Given the description of an element on the screen output the (x, y) to click on. 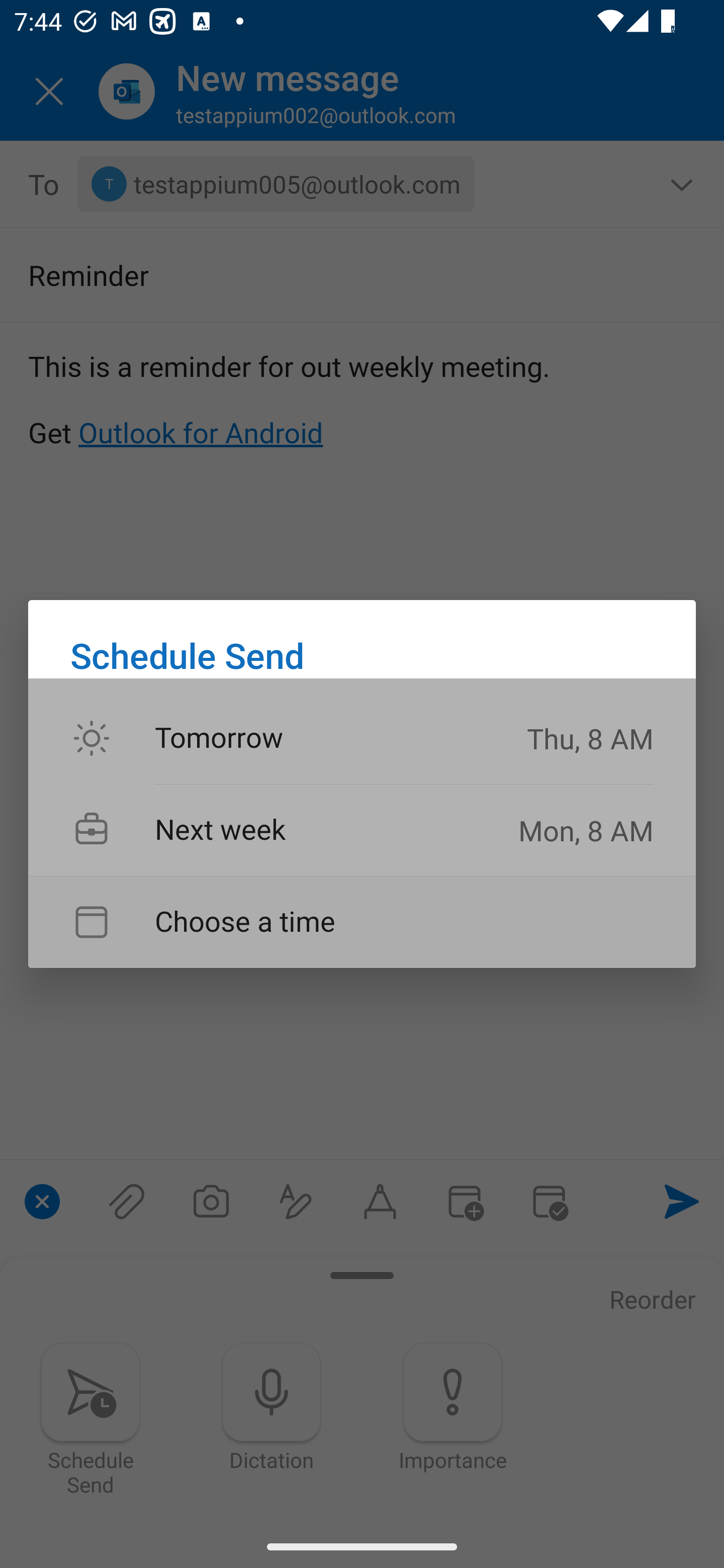
Option 1 Tomorrow Thu, 8 AM (361, 738)
Option 2 Next week Mon, 8 AM (361, 830)
Choose a time (361, 921)
